Given the description of an element on the screen output the (x, y) to click on. 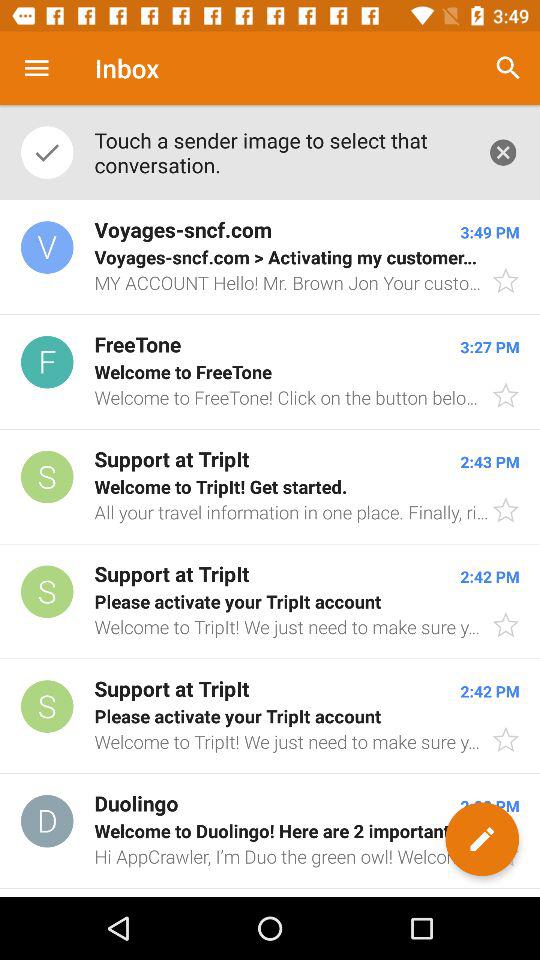
jump until touch a sender item (280, 152)
